Given the description of an element on the screen output the (x, y) to click on. 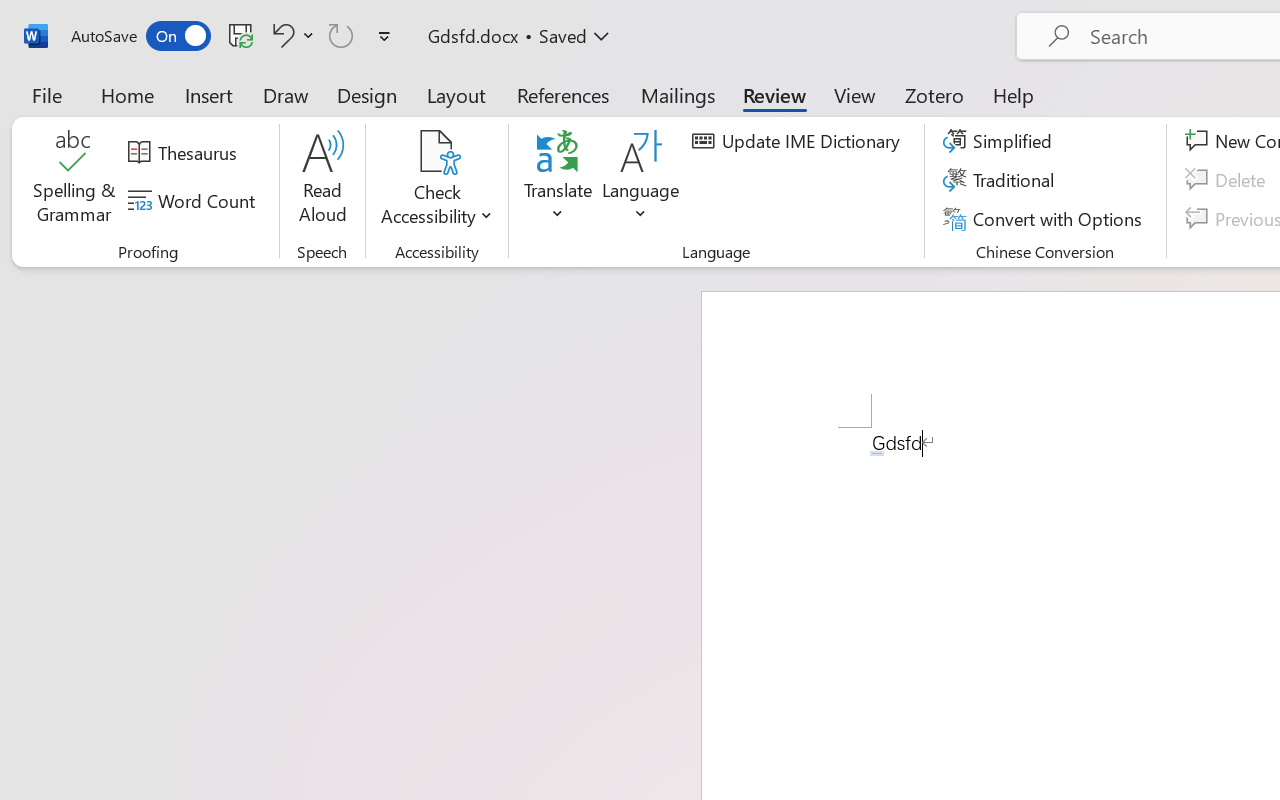
Undo AutoCorrect (280, 35)
Undo AutoCorrect (290, 35)
Action: Undo Auto Actions (877, 453)
Language (641, 179)
Convert with Options... (1045, 218)
Translate (558, 179)
Word Count (194, 201)
